Given the description of an element on the screen output the (x, y) to click on. 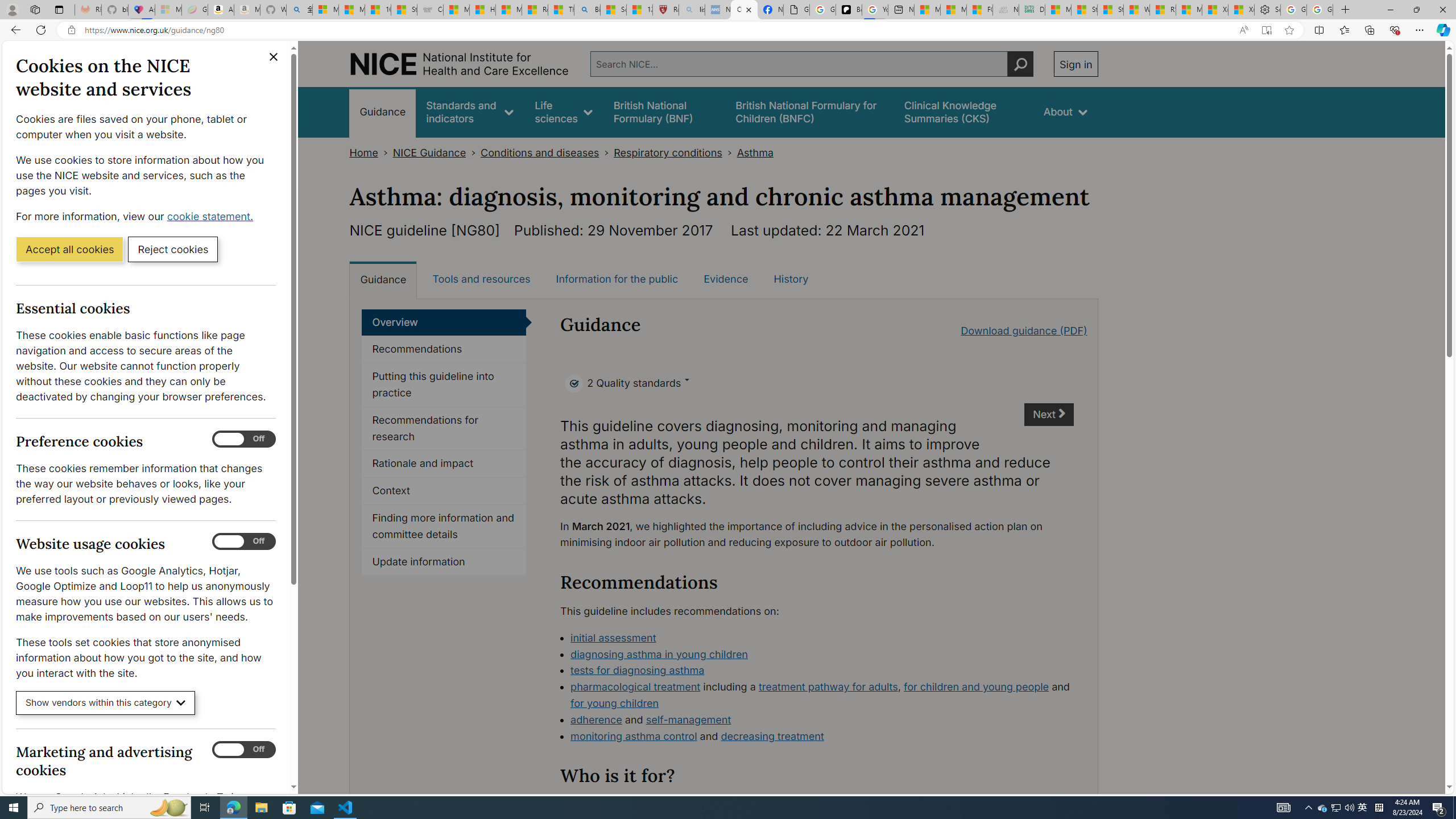
pharmacological treatment (635, 686)
cookie statement. (Opens in a new window) (211, 215)
diagnosing asthma in young children (822, 654)
self-management (687, 719)
false (963, 111)
Finding more information and committee details (444, 526)
Reject cookies (173, 248)
Home> (371, 152)
Recommendations for research (444, 428)
Accept all cookies (69, 248)
Conditions and diseases> (547, 152)
monitoring asthma control (633, 735)
